Given the description of an element on the screen output the (x, y) to click on. 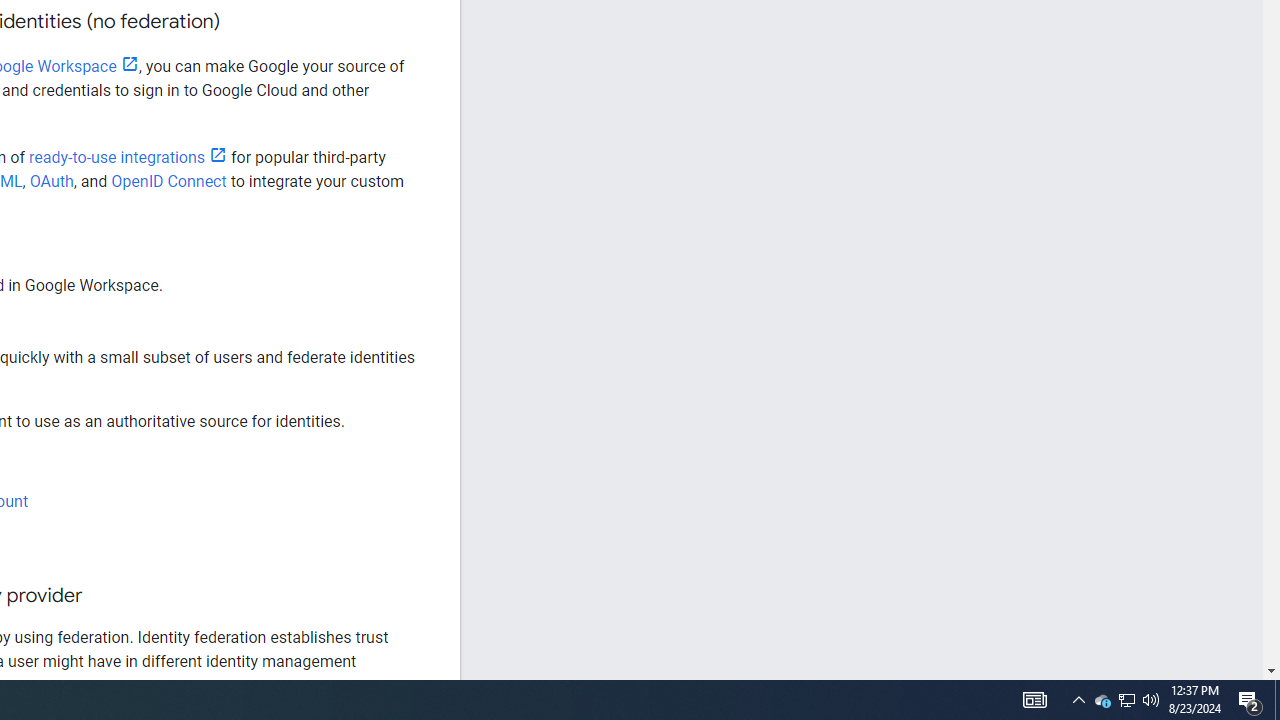
ready-to-use integrations (127, 157)
OAuth (51, 181)
OpenID Connect (168, 181)
